Given the description of an element on the screen output the (x, y) to click on. 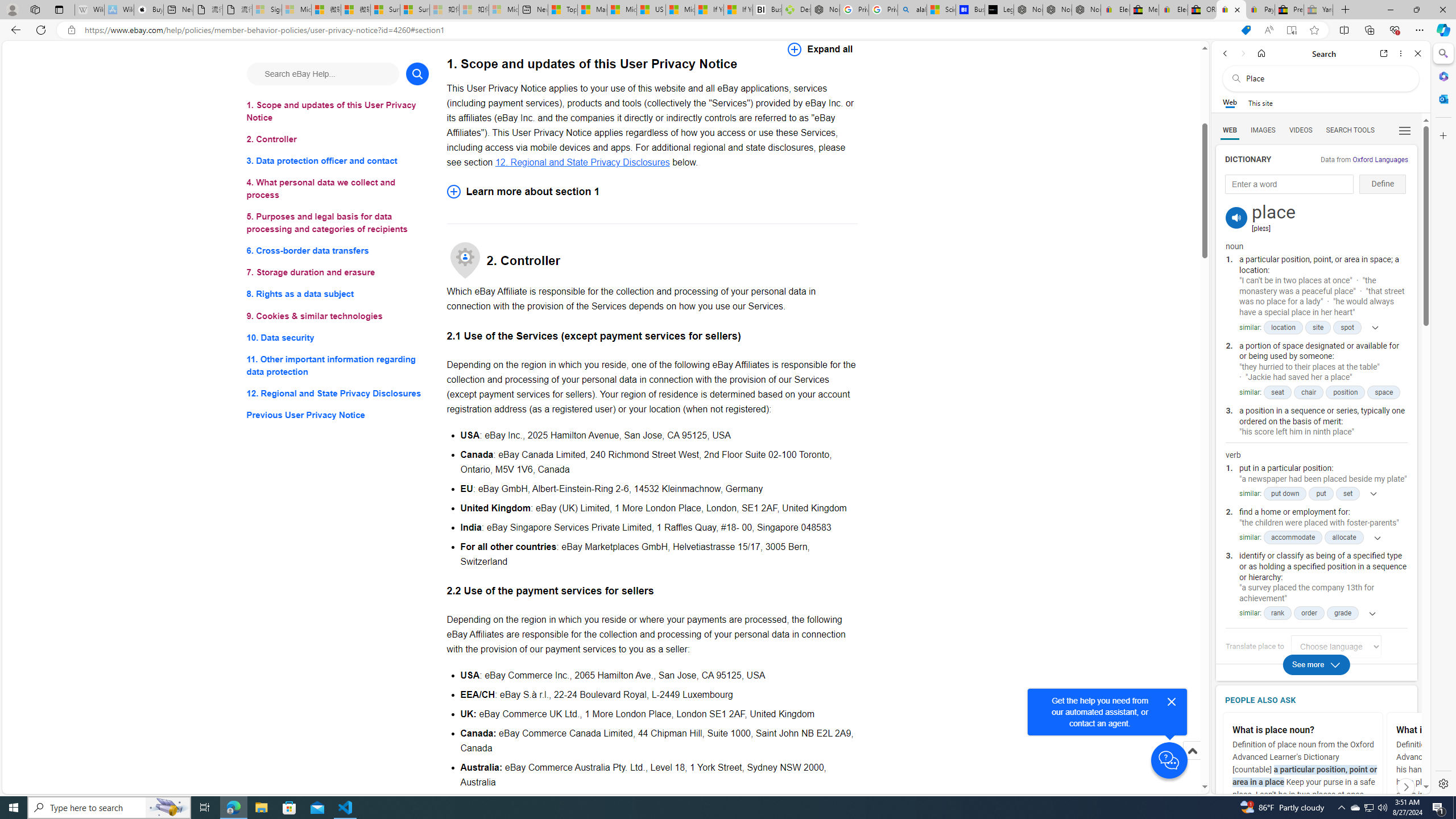
This site has coupons! Shopping in Microsoft Edge (1245, 29)
Search Filter, VIDEOS (1300, 129)
Search eBay Help... (322, 73)
Previous User Privacy Notice (337, 414)
Buy iPad - Apple (148, 9)
SEARCH TOOLS (1350, 130)
Yard, Garden & Outdoor Living - Sleeping (1318, 9)
